Given the description of an element on the screen output the (x, y) to click on. 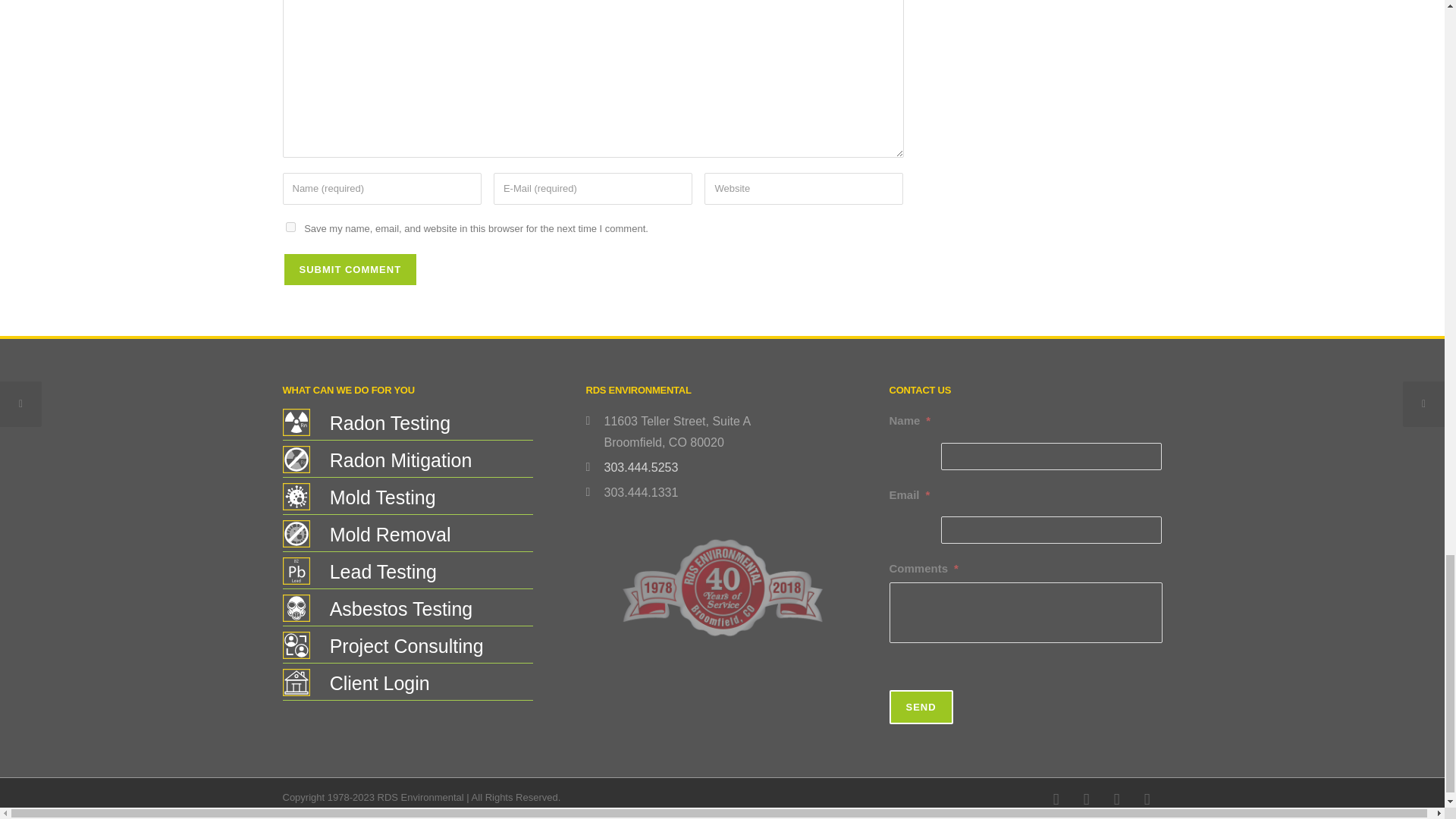
Website (803, 188)
Twitter (1115, 798)
yes (290, 226)
LinkedIn (1085, 798)
Send (920, 706)
Submit Comment (349, 269)
YouTube (1146, 798)
Facebook (1055, 798)
